Given the description of an element on the screen output the (x, y) to click on. 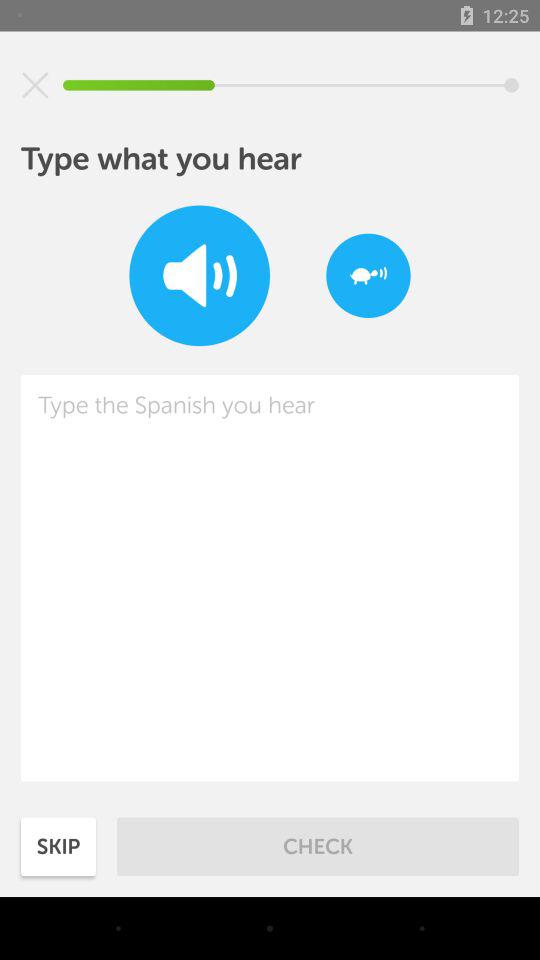
click icon to the left of check item (58, 846)
